Given the description of an element on the screen output the (x, y) to click on. 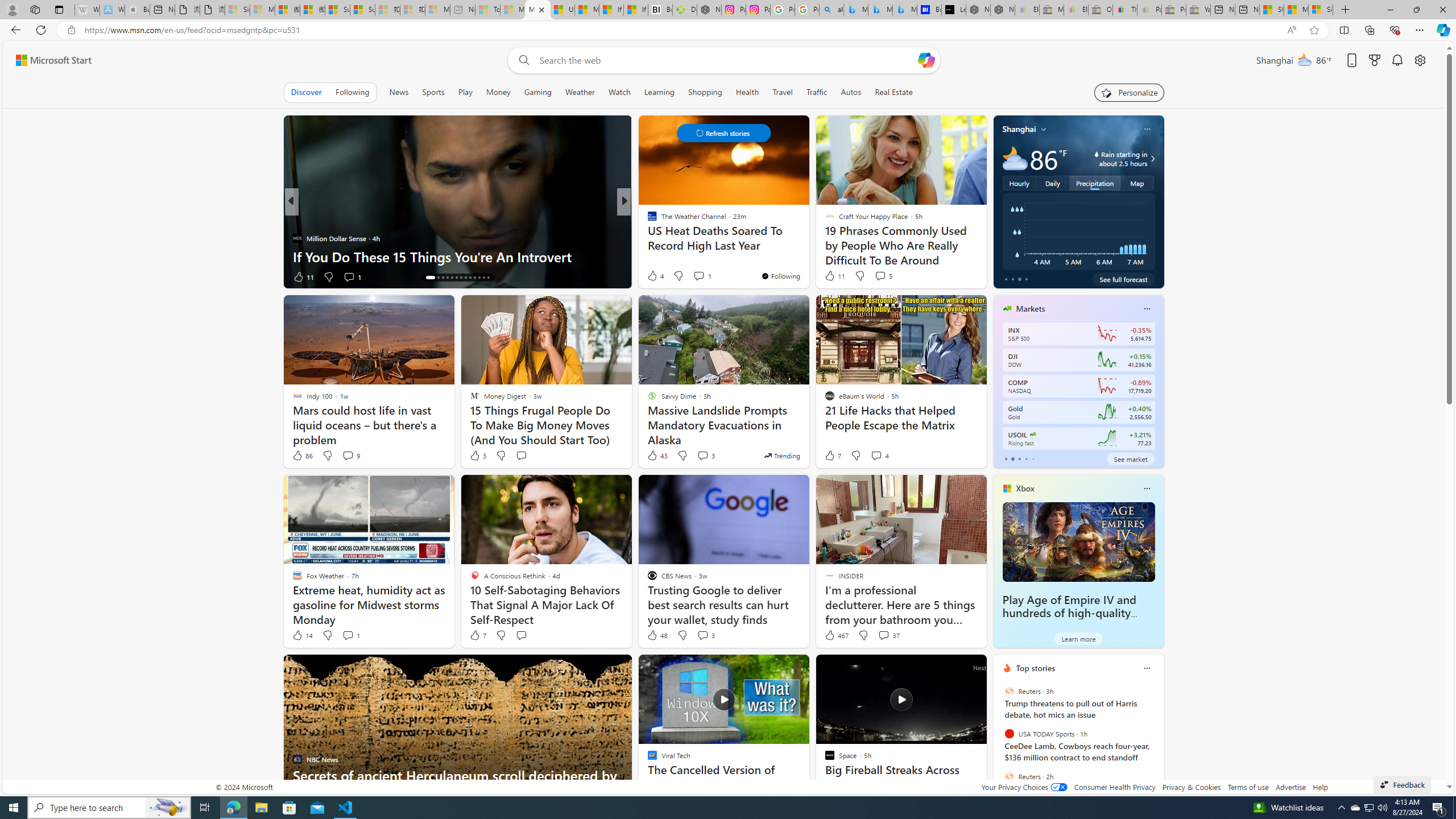
4 AM 5 AM 6 AM 7 AM (1077, 231)
Autos (851, 92)
View comments 11 Comment (703, 276)
Your Privacy Choices (1024, 786)
tab-1 (1012, 458)
Class: weather-arrow-glyph (1152, 158)
AutomationID: tab-24 (478, 277)
